Given the description of an element on the screen output the (x, y) to click on. 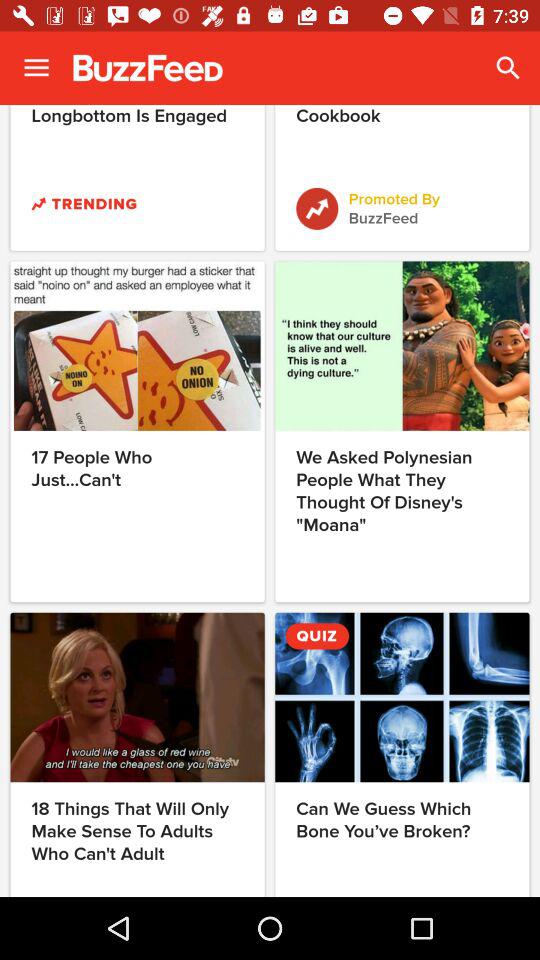
select the icon above the oh yes a icon (508, 67)
